Given the description of an element on the screen output the (x, y) to click on. 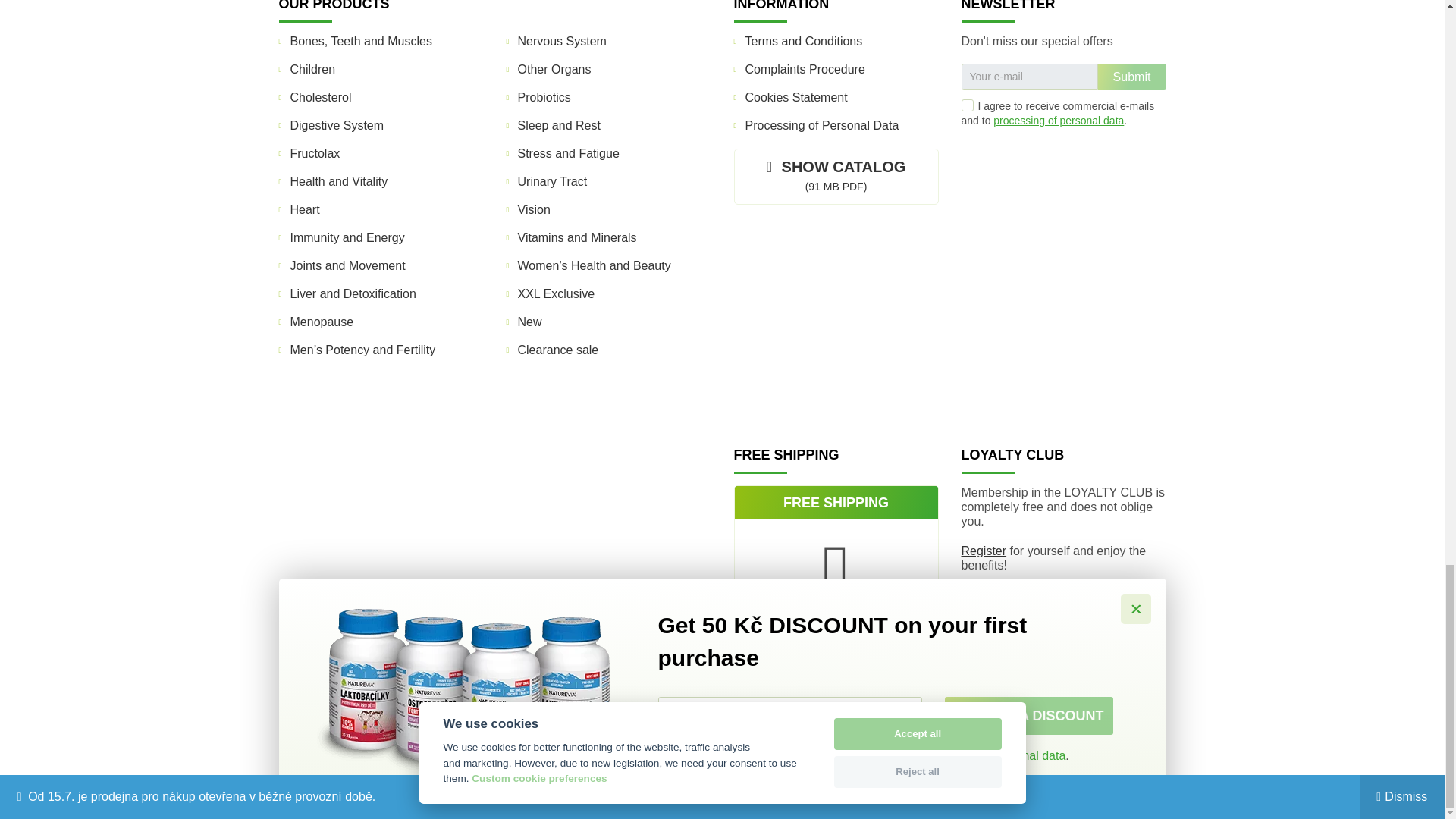
Show catalog (836, 176)
Naturevia on Facebook (1047, 223)
1 (967, 105)
